Given the description of an element on the screen output the (x, y) to click on. 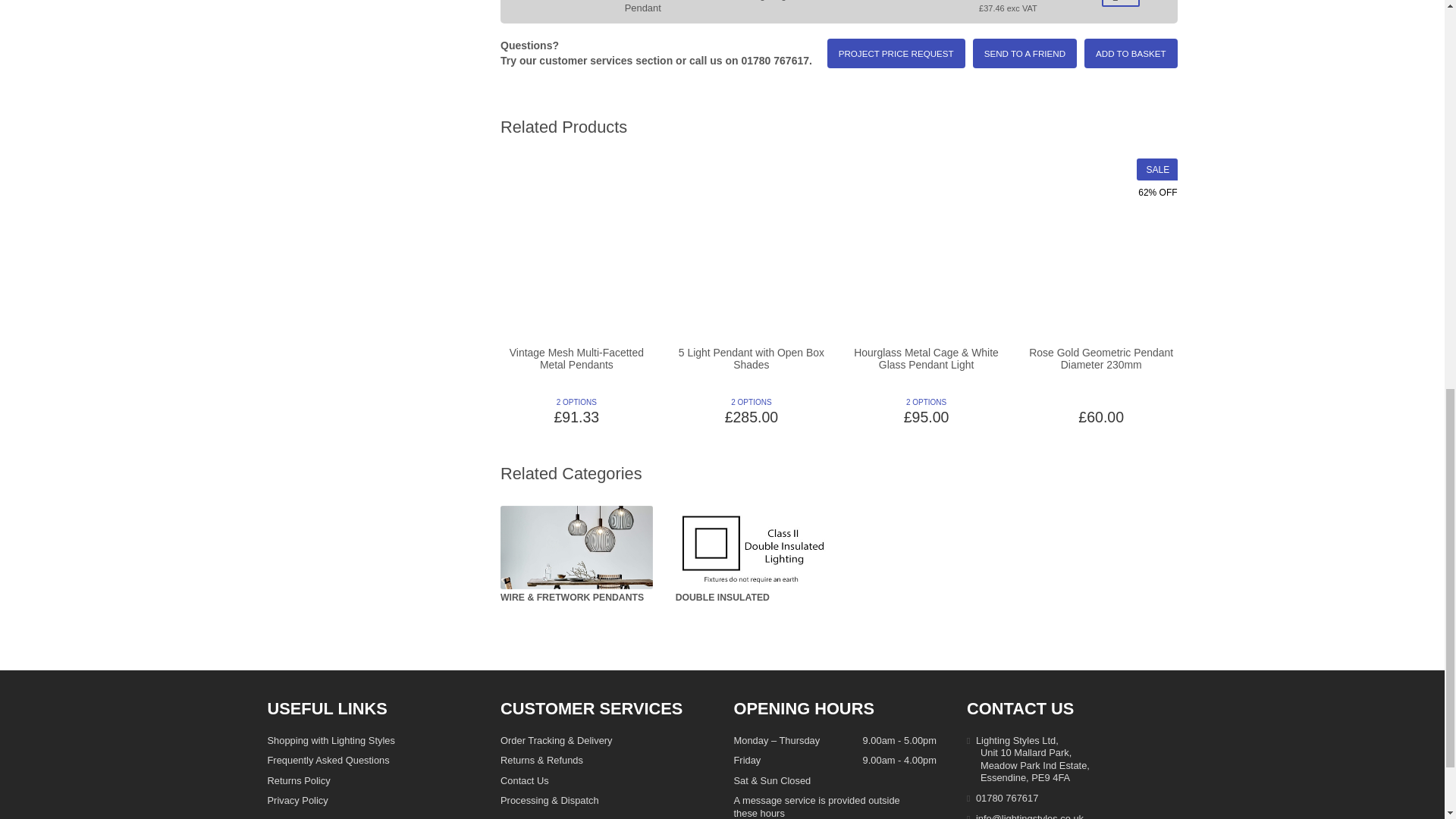
Rose Gold Geometric Pendant Diameter 230mm (1101, 79)
Project Price Request (896, 52)
Vintage Mesh Multi-Facetted Metal Pendants (576, 79)
Double Insulated (751, 547)
5 Light Pendant with Open Box Shades (751, 79)
Add To Basket (1130, 52)
Send to a Friend (1024, 52)
1 (1121, 3)
